Given the description of an element on the screen output the (x, y) to click on. 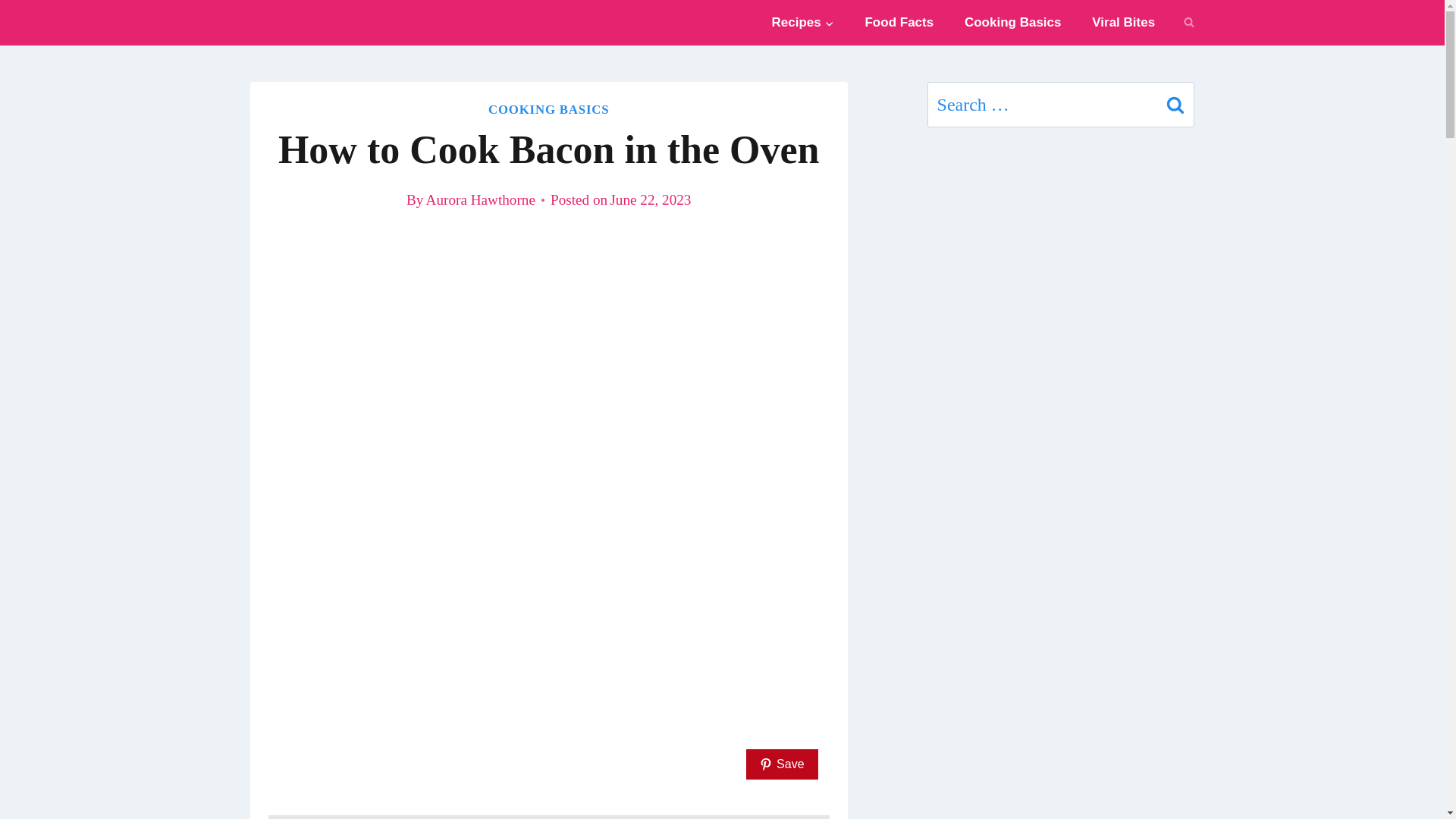
Food Facts (898, 22)
Aurora Hawthorne (480, 199)
COOKING BASICS (548, 109)
Cooking Basics (1013, 22)
Viral Bites (1123, 22)
Recipes (801, 22)
